Given the description of an element on the screen output the (x, y) to click on. 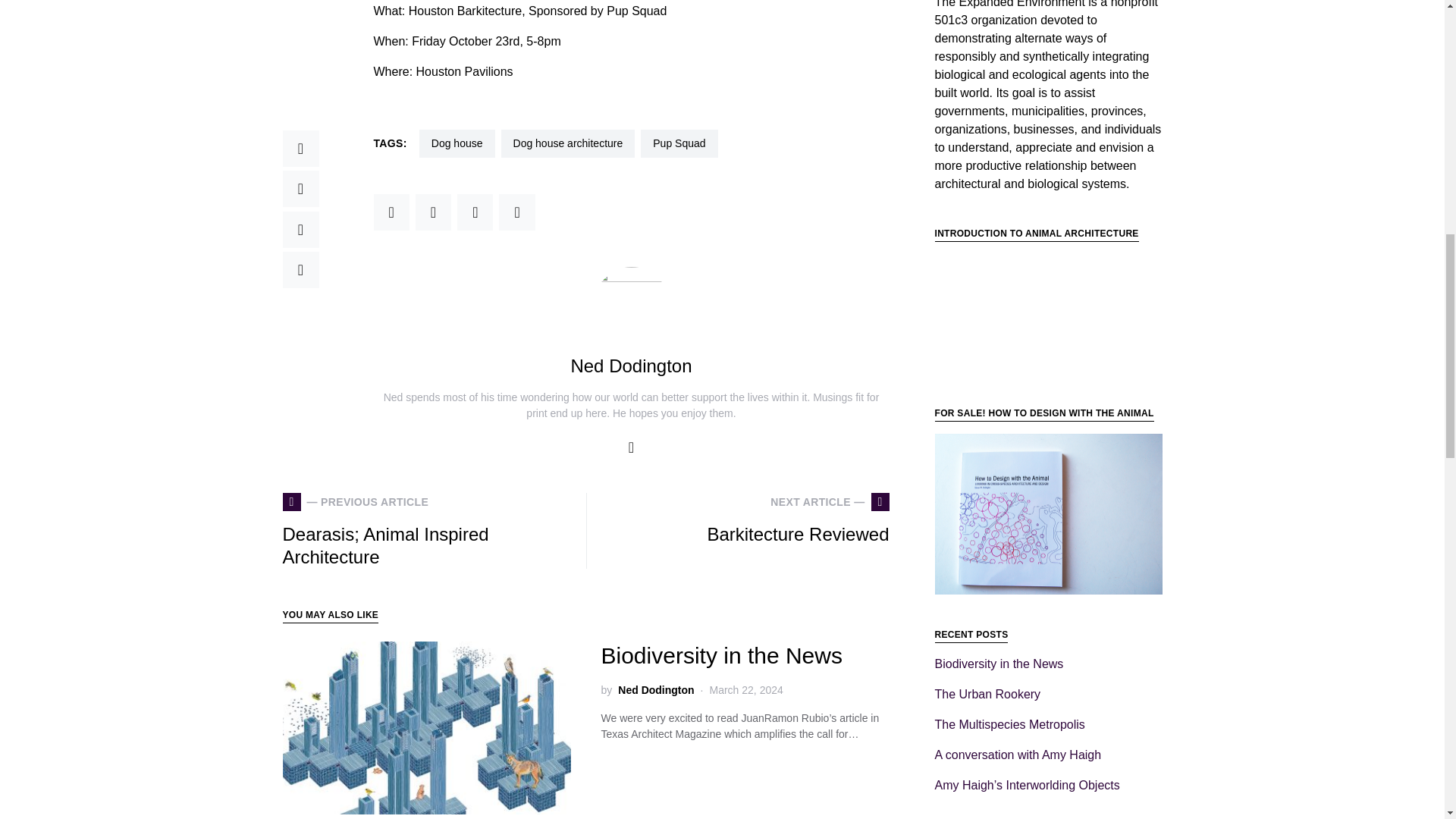
View all posts by Ned Dodington (655, 690)
